Given the description of an element on the screen output the (x, y) to click on. 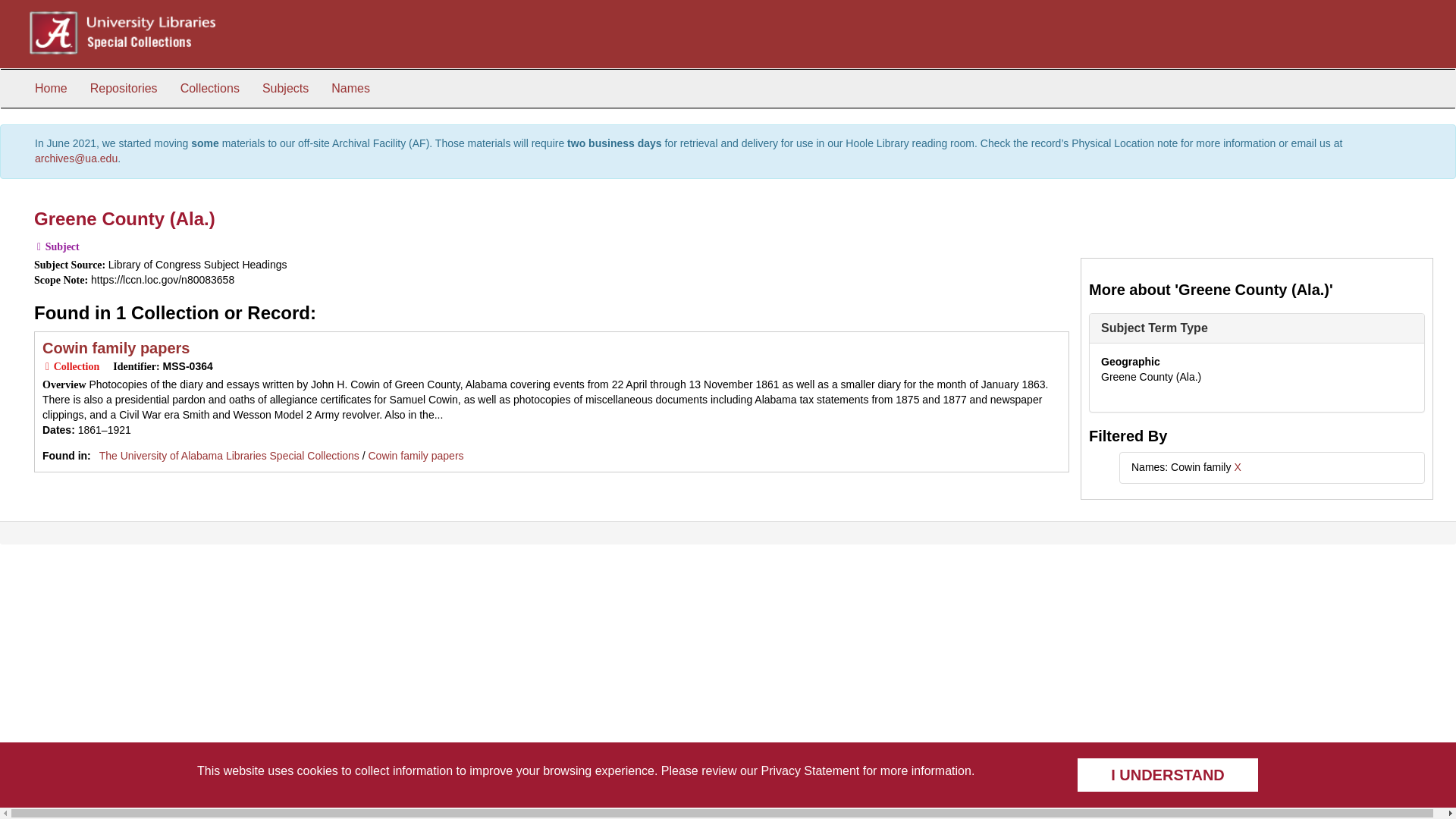
Cowin family papers (116, 347)
Cowin family papers (416, 455)
translation missing: en.dates (56, 429)
Names (350, 88)
Home (50, 88)
Subjects (285, 88)
Repositories (123, 88)
Subject Term Type (1154, 327)
Collections (209, 88)
The University of Alabama Libraries Special Collections (229, 455)
